Given the description of an element on the screen output the (x, y) to click on. 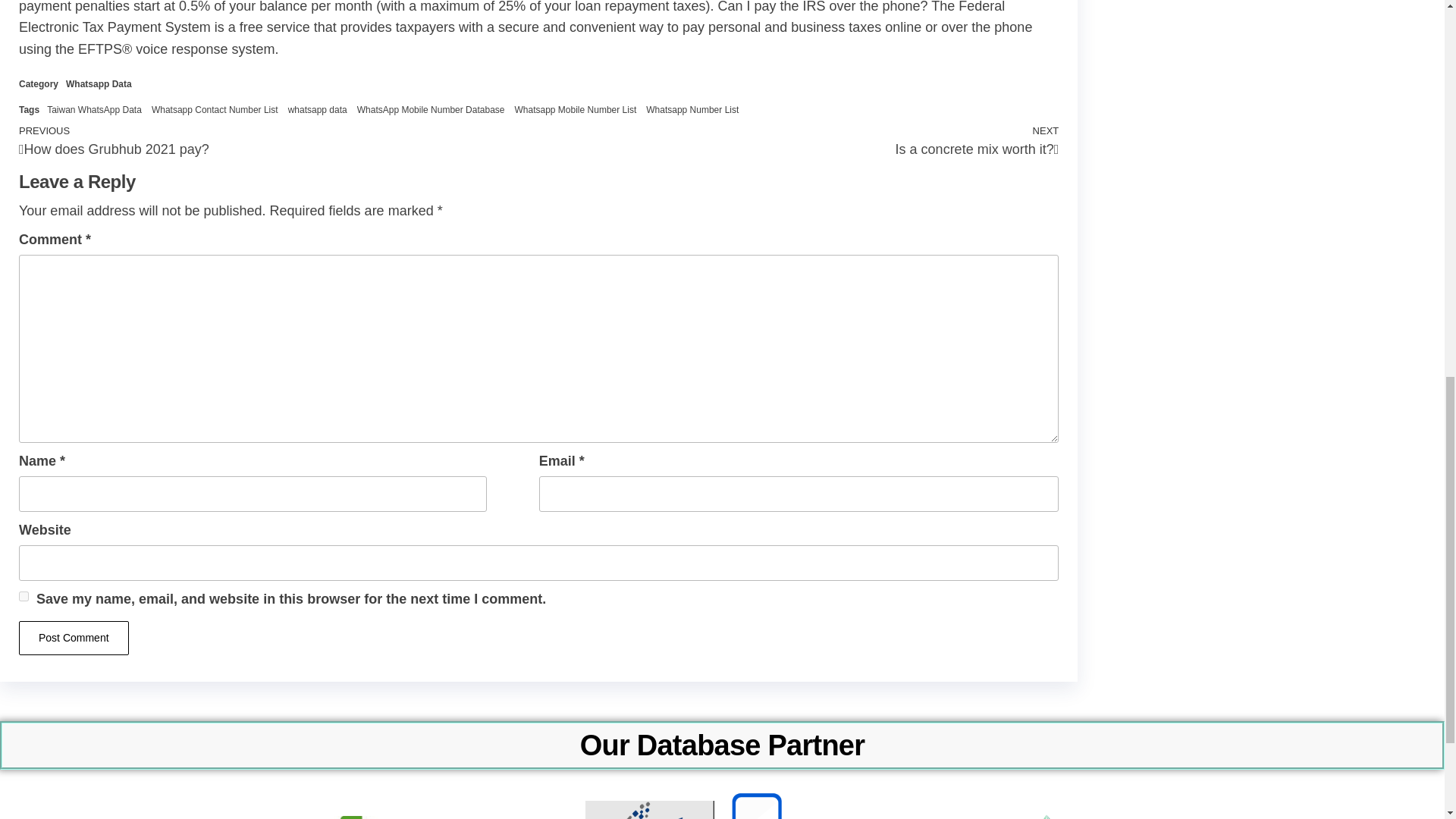
Whatsapp Number List (278, 140)
Taiwan WhatsApp Data (692, 109)
WhatsApp Mobile Number Database (93, 109)
Post Comment (430, 109)
Whatsapp Data (73, 637)
whatsapp data (98, 83)
Post Comment (317, 109)
Whatsapp Contact Number List (73, 637)
Whatsapp Mobile Number List (798, 140)
yes (214, 109)
